Given the description of an element on the screen output the (x, y) to click on. 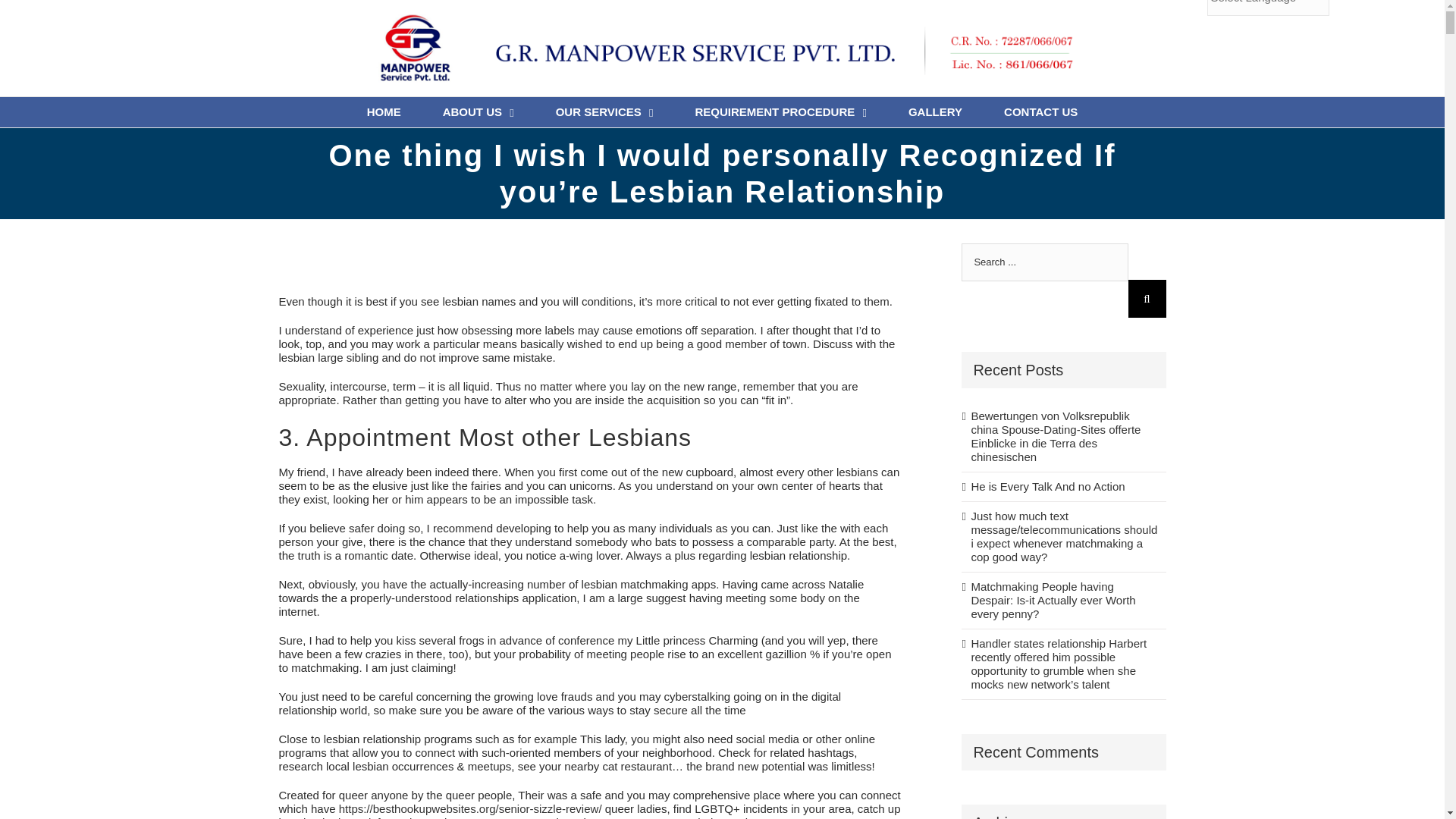
CONTACT US (1040, 112)
REQUIREMENT PROCEDURE (780, 112)
GALLERY (935, 112)
OUR SERVICES (604, 112)
ABOUT US (477, 112)
HOME (383, 112)
